Given the description of an element on the screen output the (x, y) to click on. 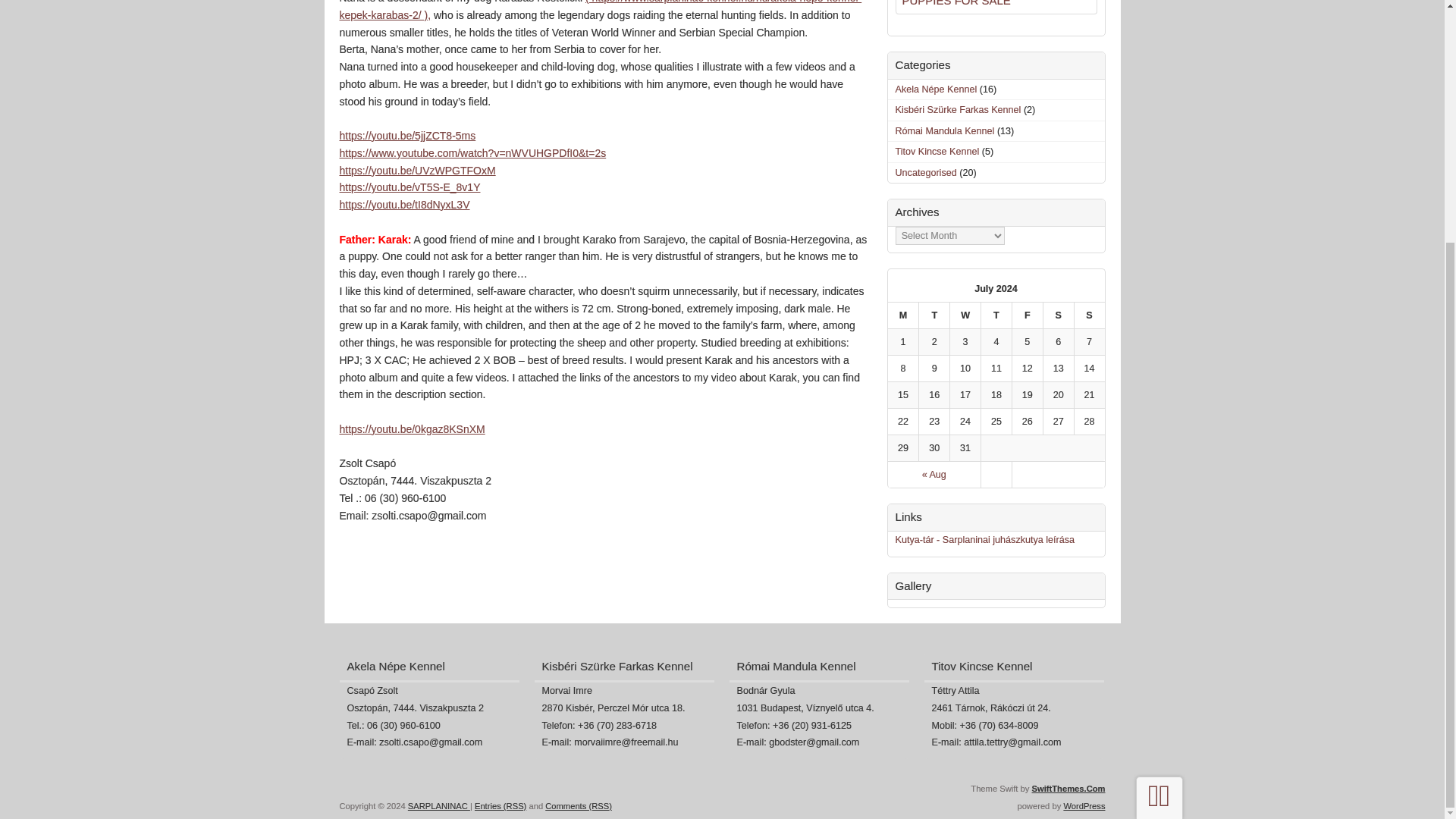
Tuesday (933, 315)
Sunday (1089, 315)
Monday (902, 315)
Wednesday (964, 315)
Friday (1026, 315)
Thursday (995, 315)
Saturday (1058, 315)
